Given the description of an element on the screen output the (x, y) to click on. 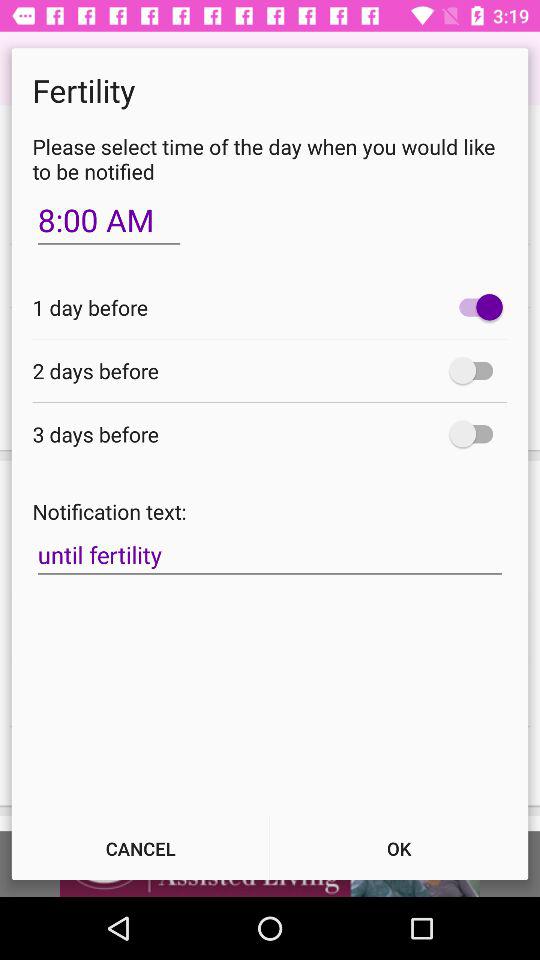
select until fertility item (269, 555)
